Given the description of an element on the screen output the (x, y) to click on. 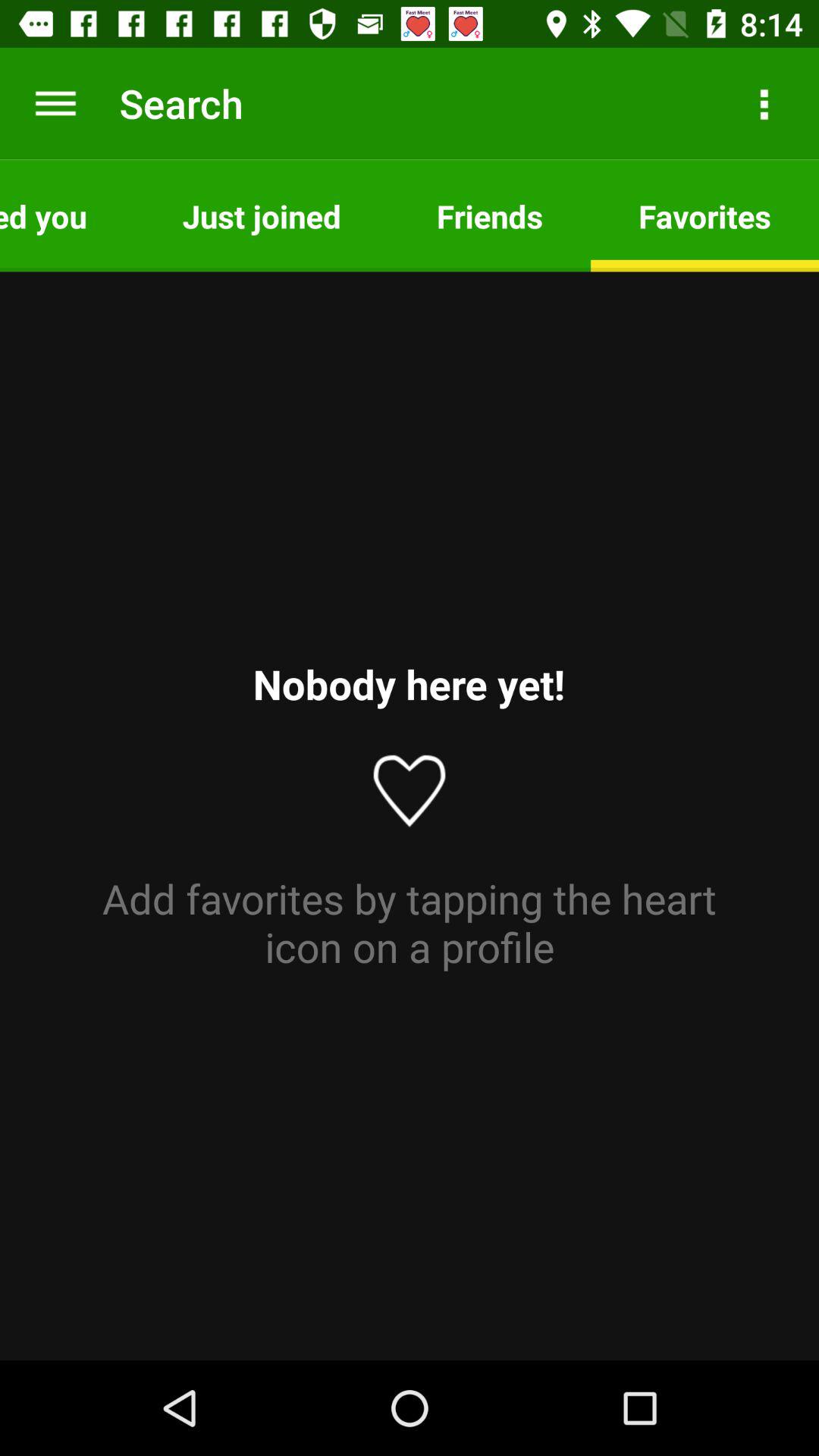
open item to the right of liked you icon (261, 215)
